Given the description of an element on the screen output the (x, y) to click on. 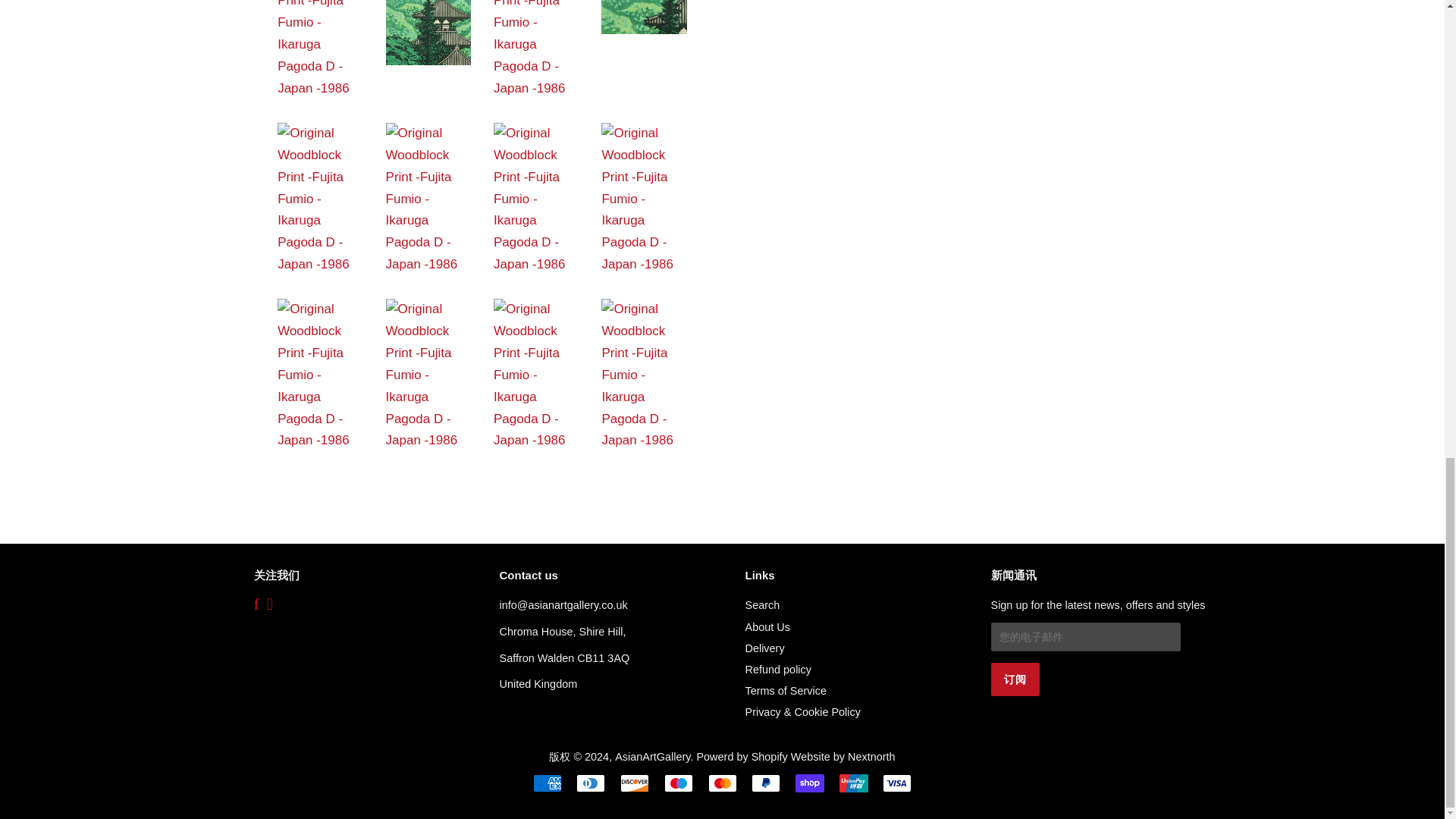
Union Pay (853, 782)
Mastercard (721, 782)
American Express (547, 782)
Maestro (678, 782)
Visa (896, 782)
Discover (634, 782)
Diners Club (590, 782)
PayPal (765, 782)
Shop Pay (809, 782)
